Given the description of an element on the screen output the (x, y) to click on. 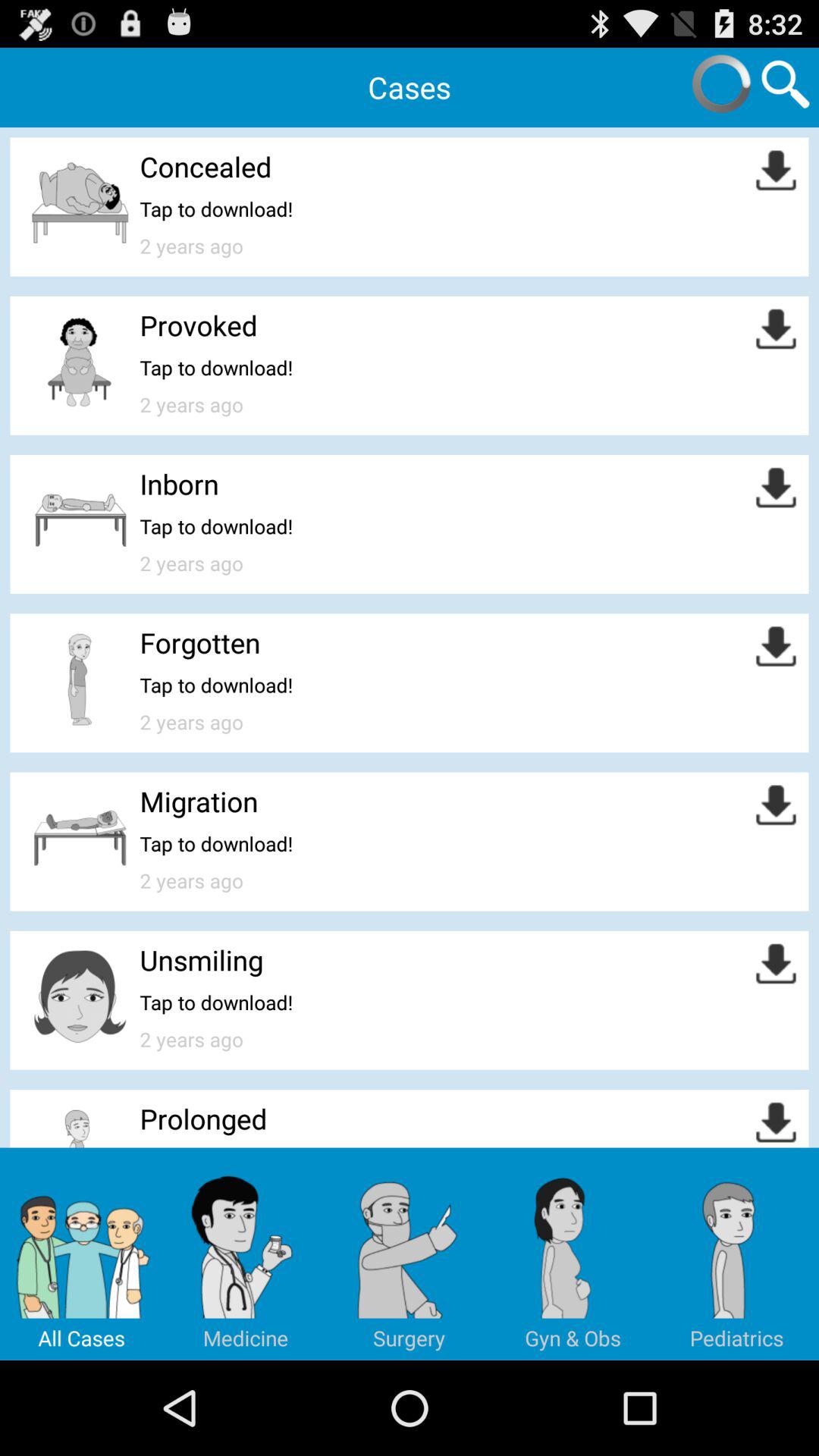
turn off the icon above tap to download! (198, 325)
